Given the description of an element on the screen output the (x, y) to click on. 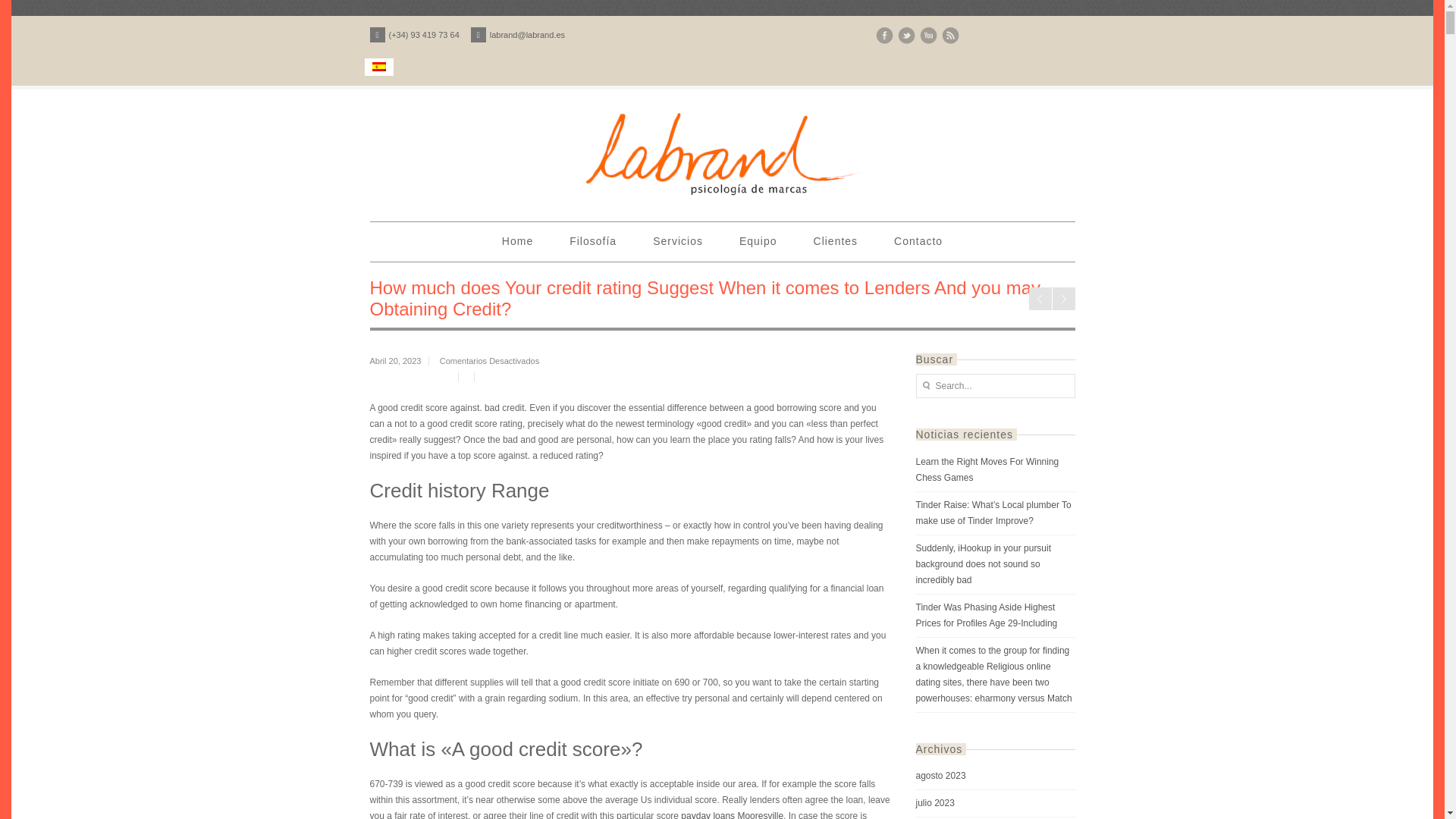
Facebook (883, 36)
Youtube (927, 36)
Twitter (906, 36)
Learn the Right Moves For Winning Chess Games (995, 469)
RSS (950, 36)
Search... (995, 385)
Youtube (927, 36)
Facebook (883, 36)
Servicios (677, 241)
Contacto (917, 241)
RSS (950, 36)
agosto 2023 (995, 775)
